Given the description of an element on the screen output the (x, y) to click on. 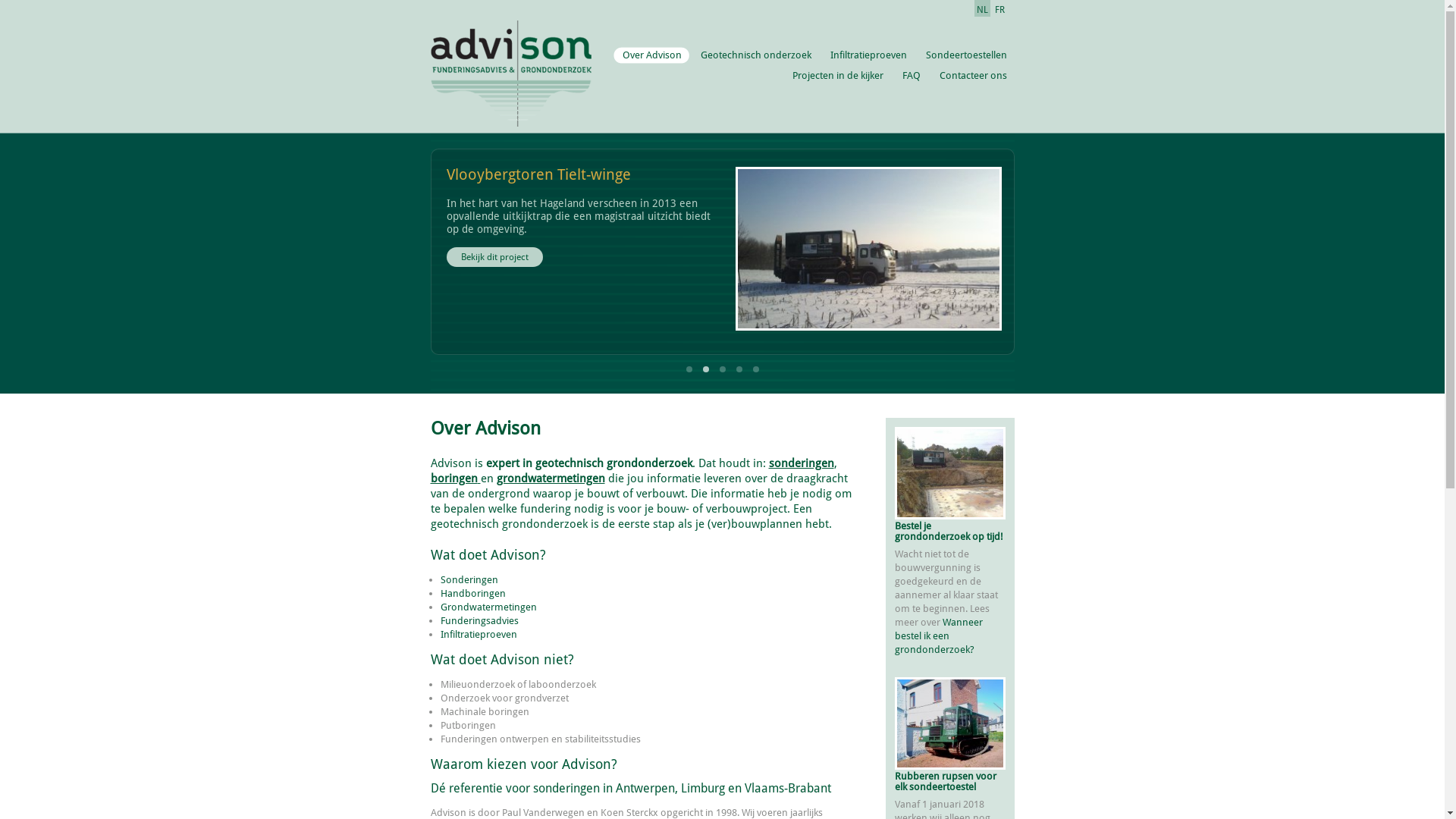
Een late bestelling Element type: hover (949, 473)
boringen Element type: text (455, 478)
FR Element type: text (998, 8)
Funderingsadvies Element type: text (478, 620)
Geotechnisch onderzoek Element type: text (755, 55)
Handboringen Element type: text (472, 593)
Infiltratieproeven Element type: text (477, 634)
Projecten in de kijker Element type: text (836, 75)
NL Element type: text (981, 8)
Sondeertoestellen Element type: text (964, 55)
Wanneer bestel ik een grondonderzoek? Element type: text (938, 635)
grondwatermetingen Element type: text (549, 478)
Uitkijktoren Tielt-winge Element type: hover (868, 248)
Sonderingen Element type: text (468, 579)
Contacteer ons Element type: text (971, 75)
Bekijk dit project Element type: text (493, 256)
Ga naar de Advison homepage Element type: hover (510, 64)
Grondwatermetingen Element type: text (487, 606)
Over Advison Element type: text (650, 55)
200 kN rups op rubberen rupsen Element type: hover (949, 723)
sonderingen Element type: text (801, 463)
Infiltratieproeven Element type: text (866, 55)
Bekijk details van Vlooybergtoren Tielt-winge Element type: hover (868, 251)
Een late bestelling Element type: hover (949, 472)
200 kN rups op rubberen rupsen Element type: hover (949, 724)
FAQ Element type: text (910, 75)
